Given the description of an element on the screen output the (x, y) to click on. 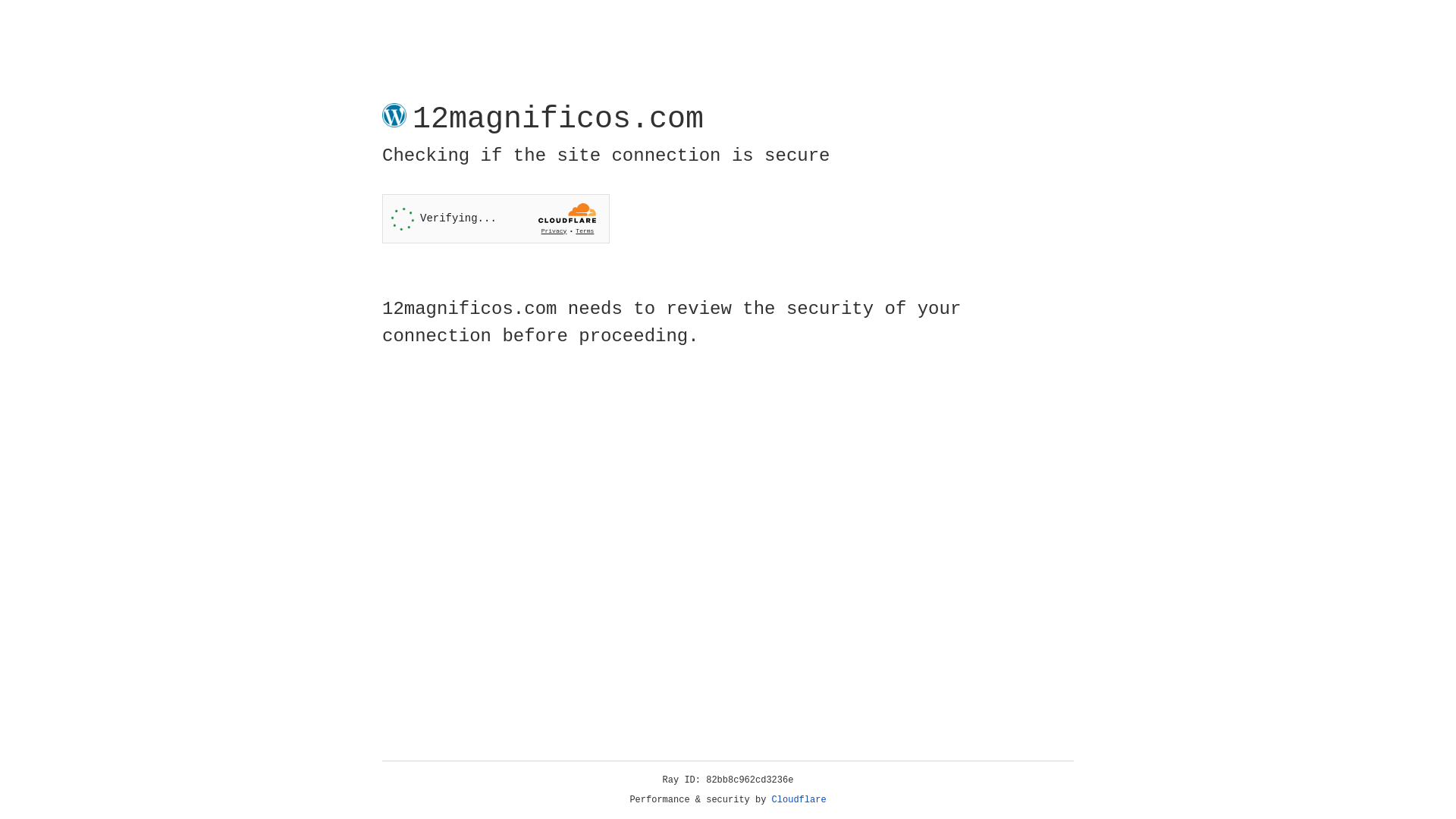
Cloudflare Element type: text (798, 799)
Widget containing a Cloudflare security challenge Element type: hover (495, 218)
